Given the description of an element on the screen output the (x, y) to click on. 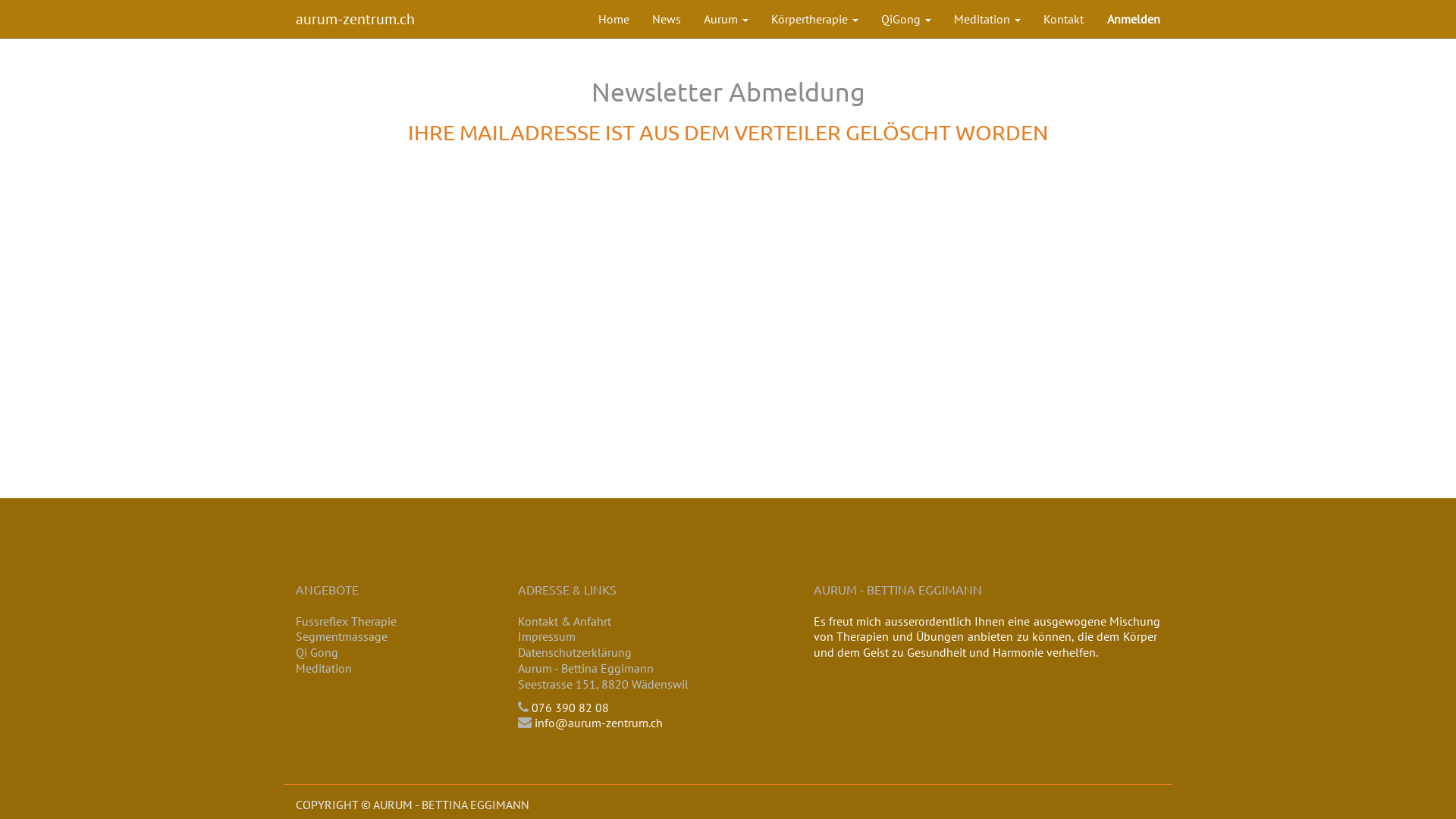
Meditation Element type: text (987, 18)
Segmentmassage Element type: text (341, 635)
Impressum Element type: text (545, 635)
Aurum Element type: text (725, 18)
Meditation Element type: text (323, 667)
QiGong Element type: text (905, 18)
News Element type: text (666, 18)
Anmelden Element type: text (1133, 18)
Fussreflex Therapie Element type: text (345, 620)
Aurum - Bettina Eggimann Element type: text (584, 667)
Kontakt Element type: text (1063, 18)
  Element type: text (296, 683)
Qi Gong Element type: text (316, 651)
aurum-zentrum.ch Element type: text (355, 18)
Home Element type: text (613, 18)
Kontakt & Anfahrt Element type: text (563, 620)
